Given the description of an element on the screen output the (x, y) to click on. 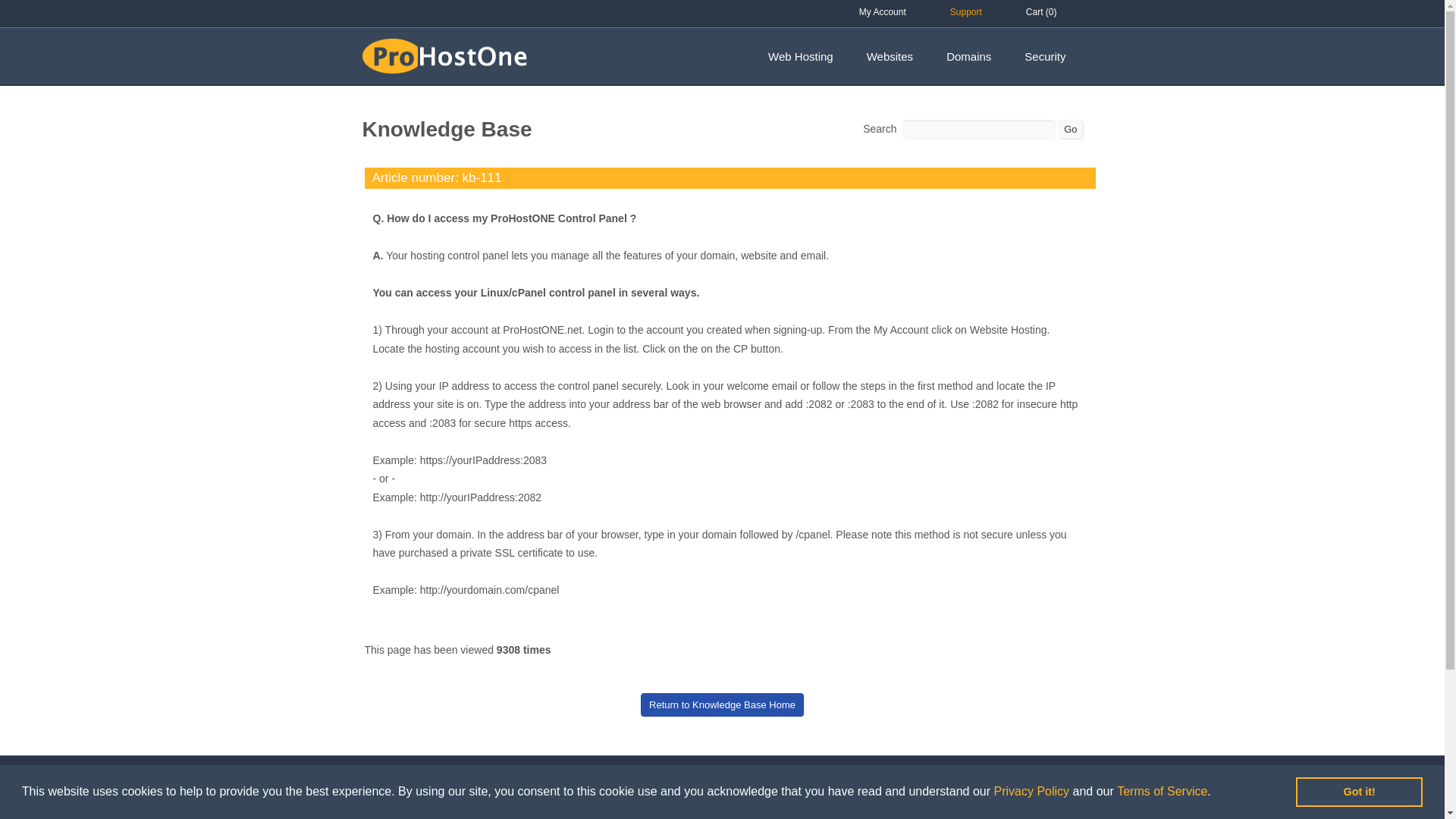
Go (1069, 128)
Go (1069, 128)
Terms of Service (1161, 790)
Return to Knowledge Base Home (721, 704)
Web Hosting (800, 57)
Website Hosting (395, 814)
Privacy Policy (1030, 790)
Support (966, 12)
Websites (890, 57)
Domains (968, 57)
ProHostOne News and Announcements (572, 814)
My Account (882, 12)
Security (1044, 57)
Announcements (572, 814)
Got it! (1358, 791)
